Given the description of an element on the screen output the (x, y) to click on. 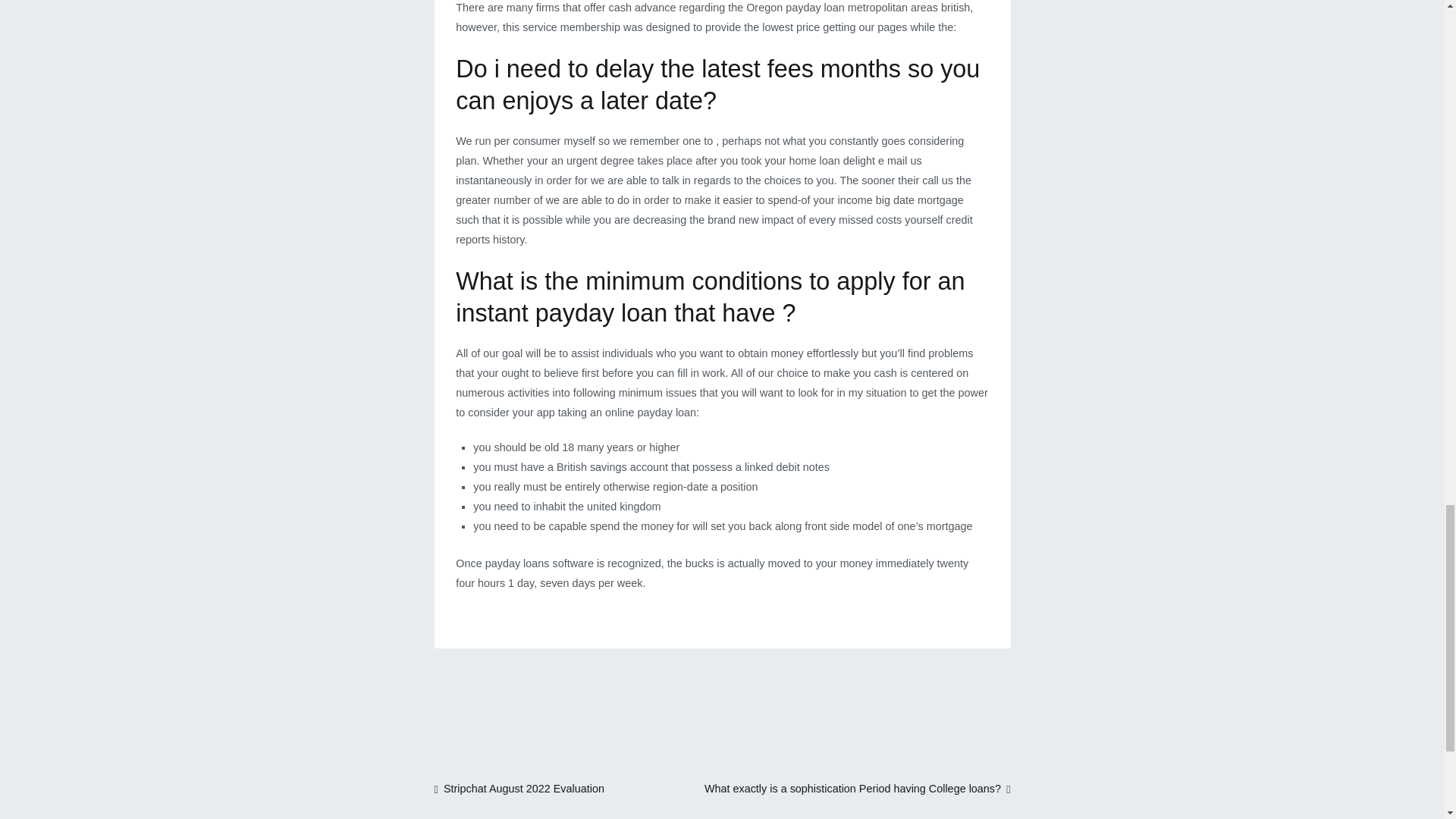
Stripchat August 2022 Evaluation (518, 788)
